Given the description of an element on the screen output the (x, y) to click on. 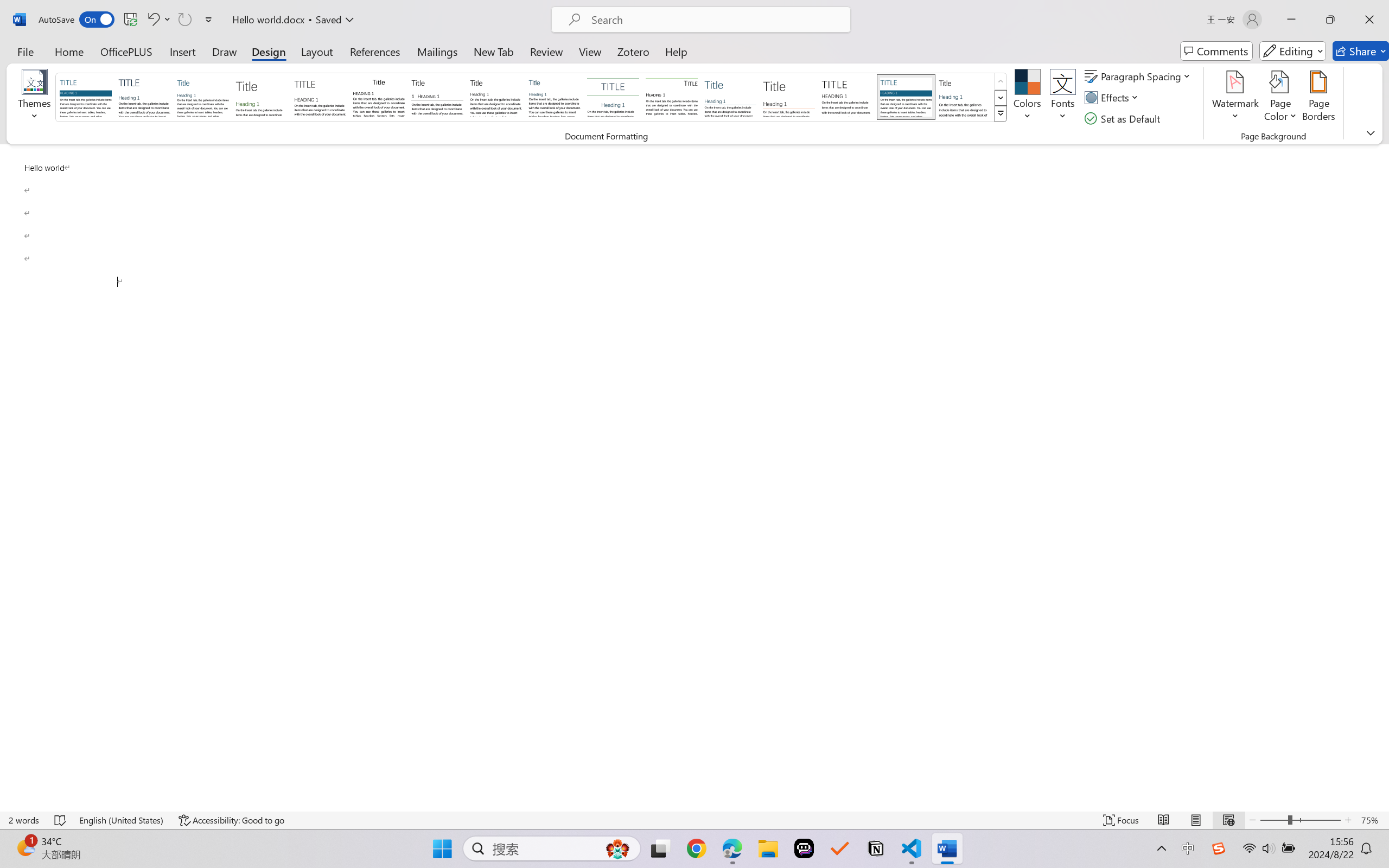
Ribbon Display Options (1370, 132)
Print Layout (1196, 819)
Zoom (1300, 819)
Page Color (1280, 97)
New Tab (493, 51)
Accessibility Checker Accessibility: Good to go (231, 819)
Basic (Stylish) (260, 96)
Page Borders... (1318, 97)
Customize Quick Access Toolbar (208, 19)
Review (546, 51)
More Options (167, 19)
Row Down (1000, 97)
Minimize (1291, 19)
Mailings (437, 51)
AutoSave (76, 19)
